Given the description of an element on the screen output the (x, y) to click on. 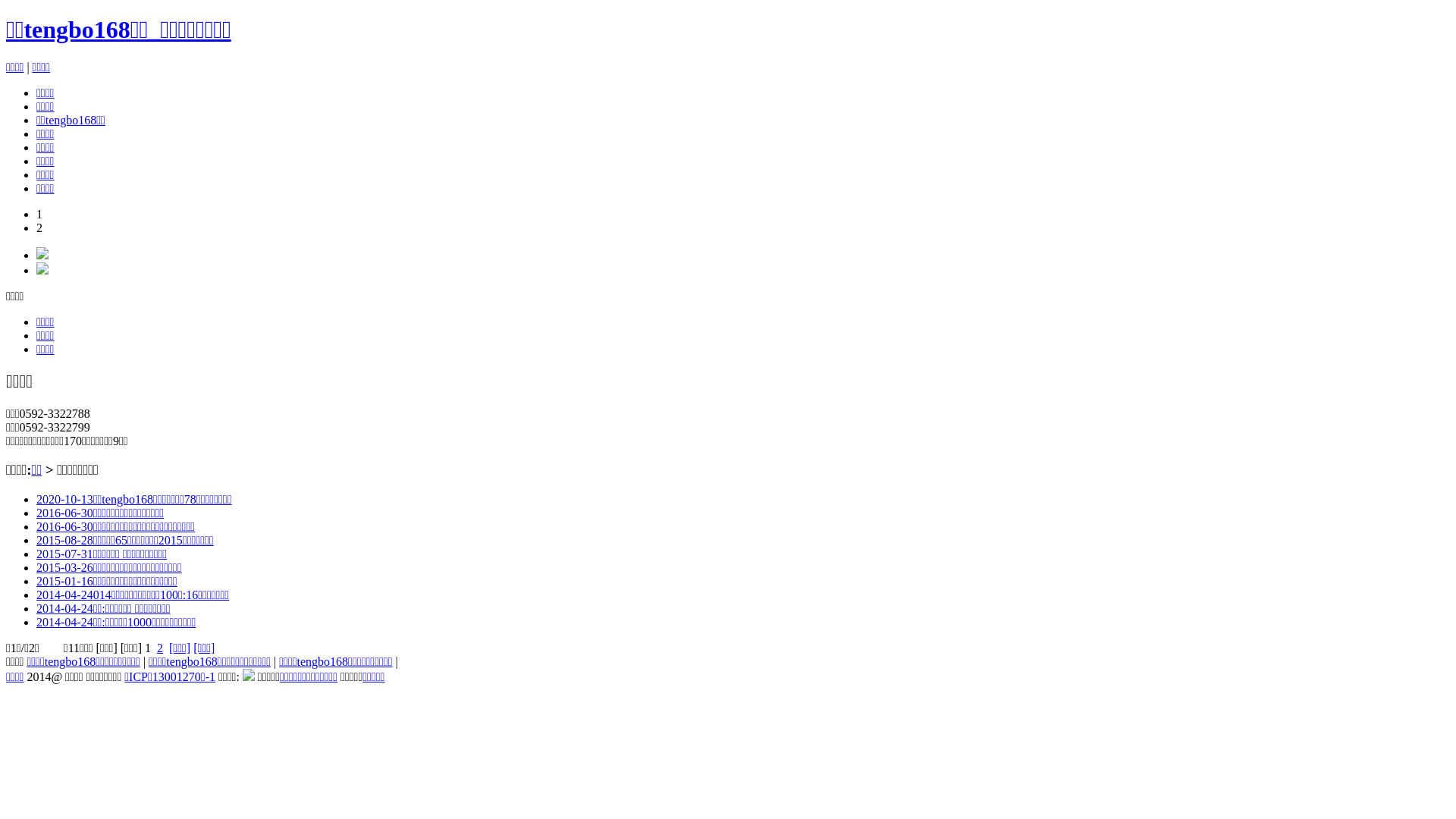
2 Element type: text (159, 647)
